Given the description of an element on the screen output the (x, y) to click on. 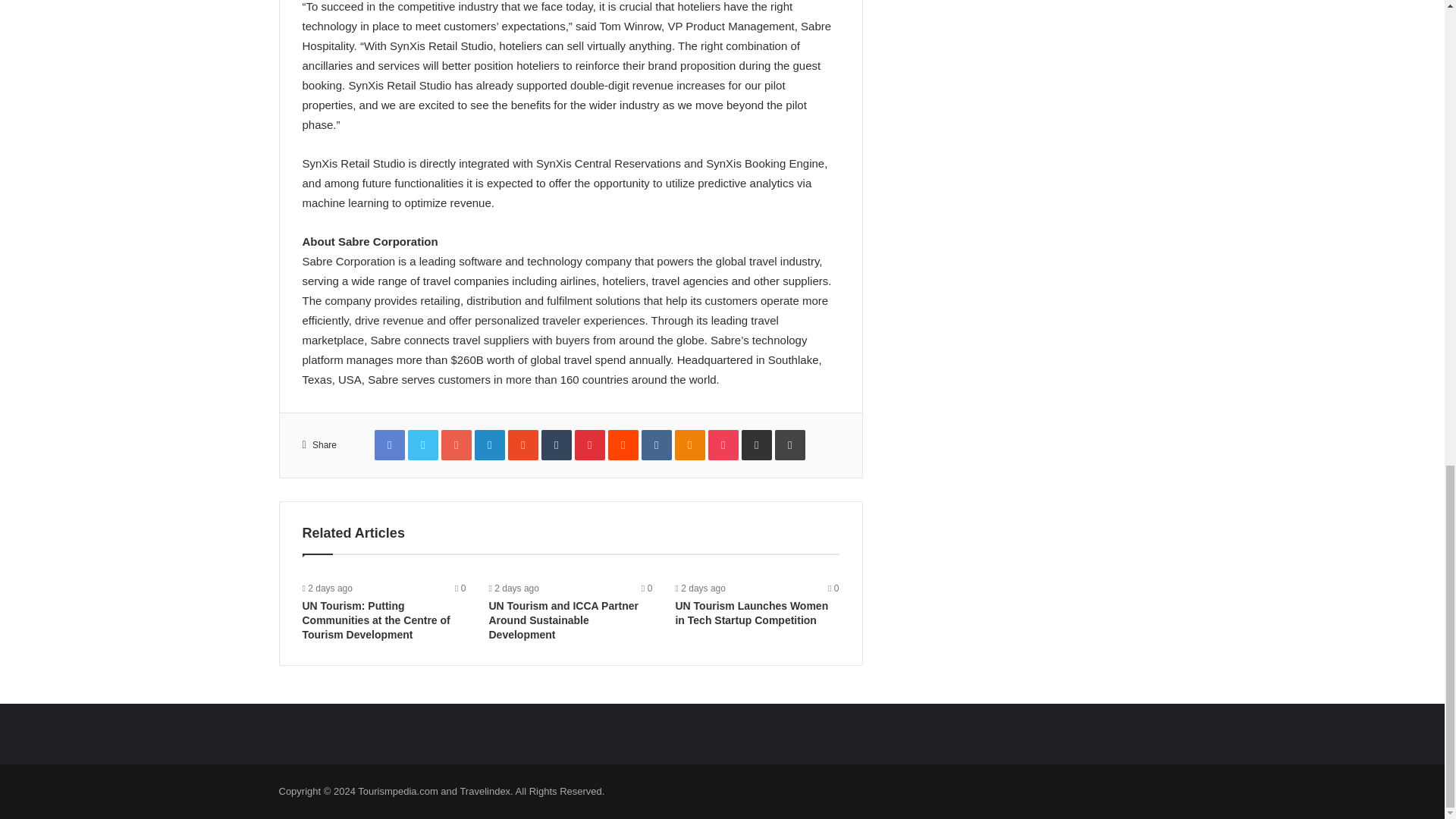
VKontakte (656, 444)
UN Tourism Launches Women in Tech Startup Competition (751, 612)
Reddit (623, 444)
StumbleUpon (523, 444)
UN Tourism and ICCA Partner Around Sustainable Development (563, 619)
UN Tourism Launches Women in Tech Startup Competition (751, 612)
Print (789, 444)
Share via Email (756, 444)
Pinterest (590, 444)
Odnoklassniki (689, 444)
LinkedIn (489, 444)
Pocket (722, 444)
UN Tourism and ICCA Partner Around Sustainable Development (563, 619)
